Given the description of an element on the screen output the (x, y) to click on. 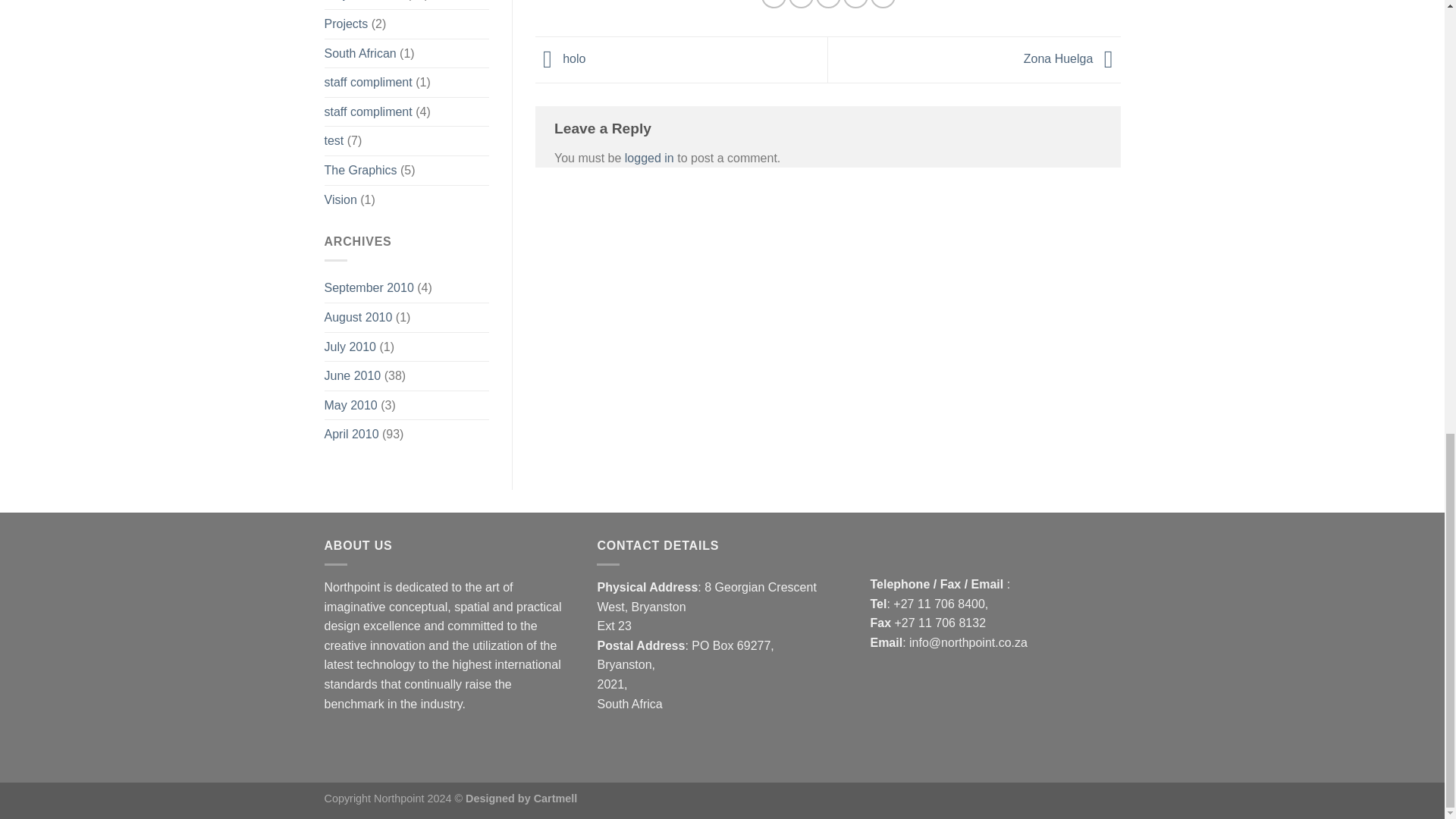
test (333, 140)
Email to a Friend (828, 4)
June 2010 (352, 375)
Share on LinkedIn (882, 4)
staff compliment (368, 111)
Pin on Pinterest (855, 4)
August 2010 (358, 317)
Zona Huelga (1072, 58)
holo (560, 58)
logged in (649, 157)
April 2010 (351, 434)
The Graphics (360, 170)
Share on Facebook (773, 4)
Vision (340, 199)
Projects (346, 23)
